Given the description of an element on the screen output the (x, y) to click on. 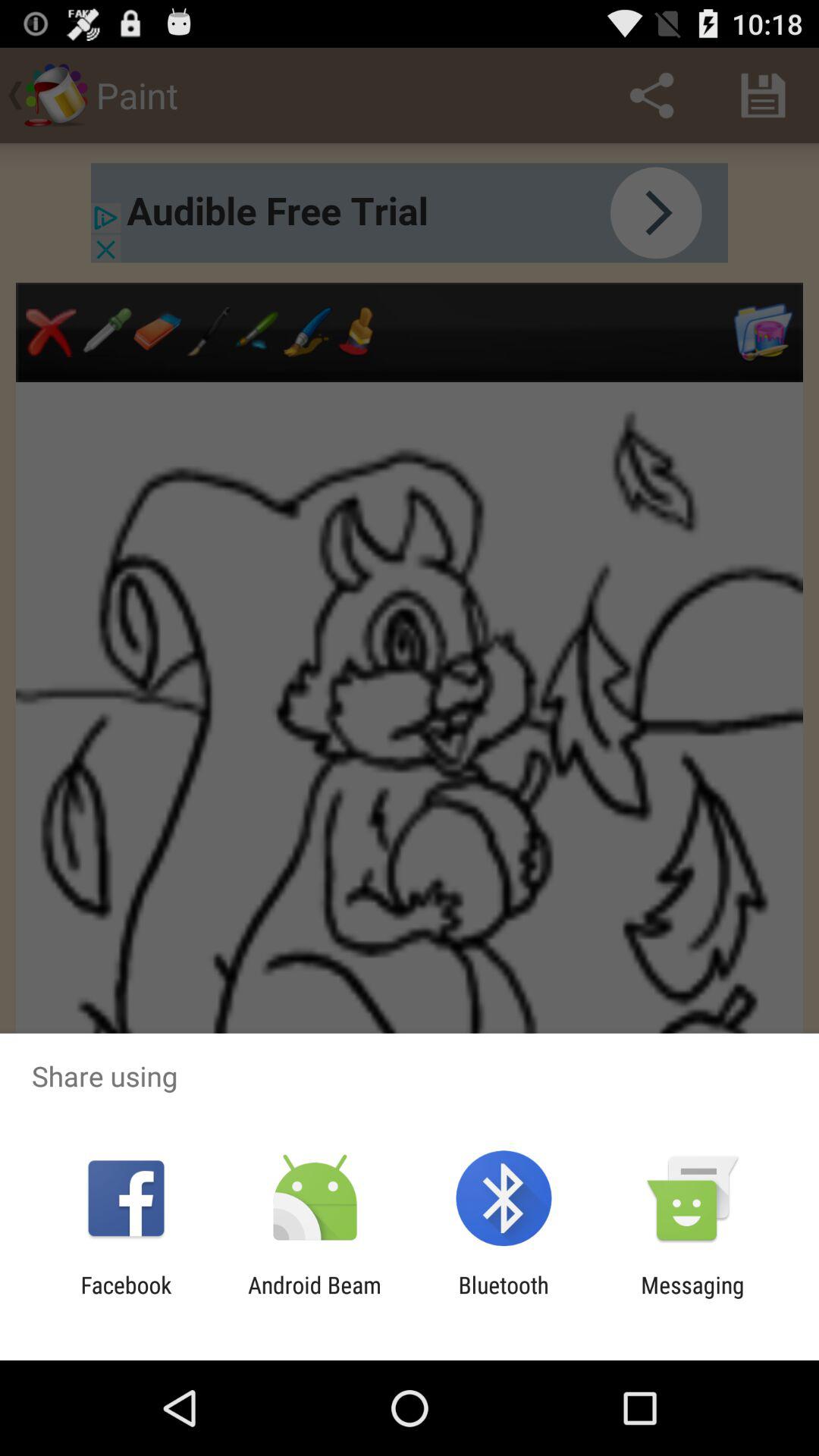
launch facebook icon (125, 1298)
